Given the description of an element on the screen output the (x, y) to click on. 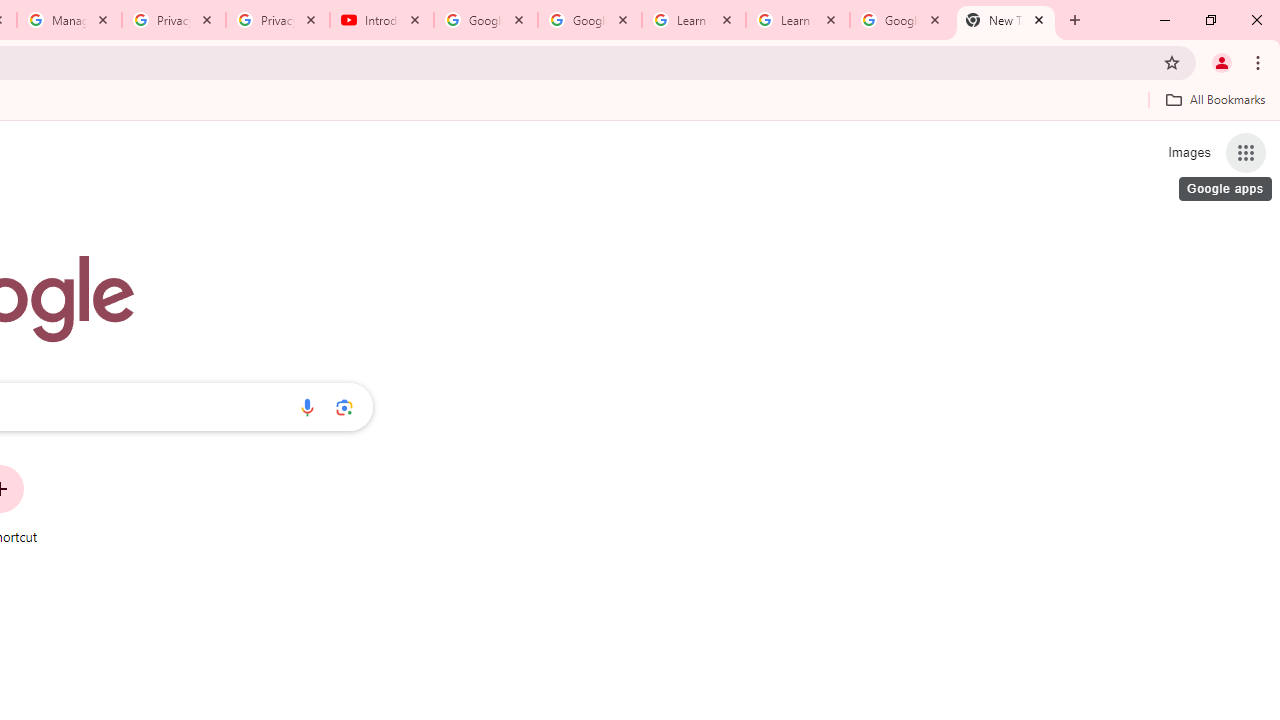
Google Account (901, 20)
Search by image (344, 407)
Google Account Help (485, 20)
New Tab (1005, 20)
